Given the description of an element on the screen output the (x, y) to click on. 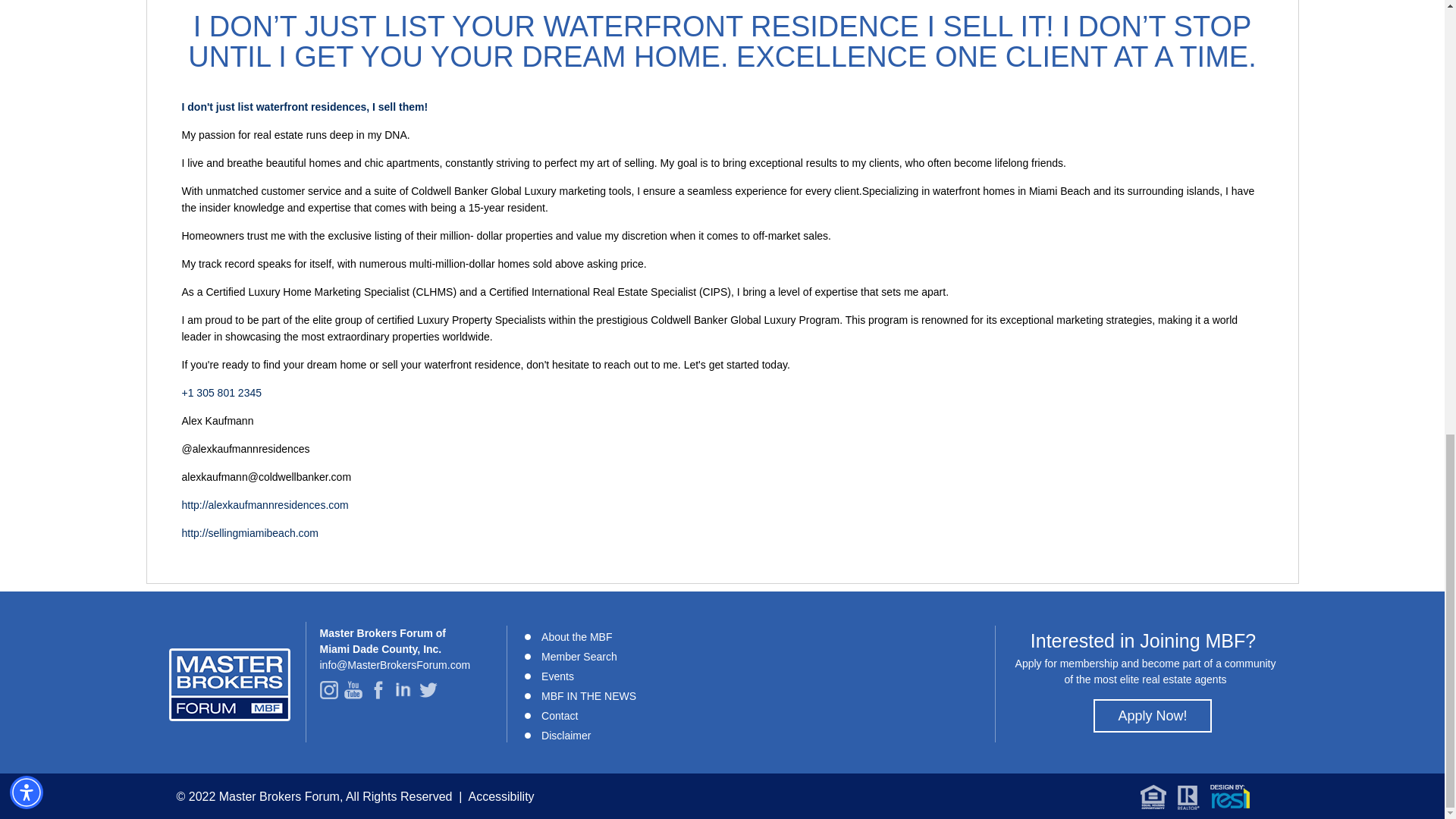
Member Search (579, 655)
About the MBF (576, 635)
